Given the description of an element on the screen output the (x, y) to click on. 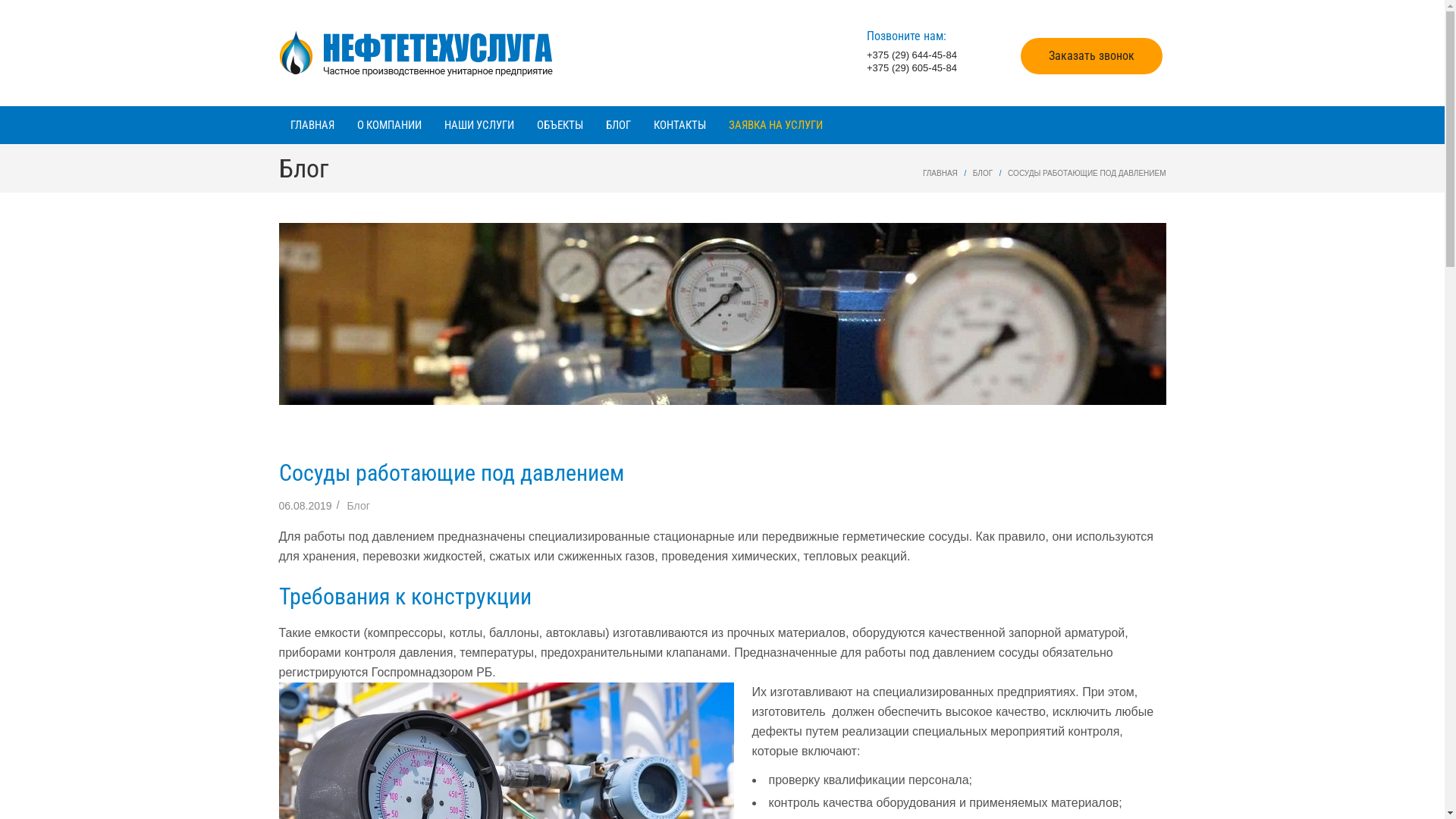
+375 (29) 644-45-84 Element type: text (911, 54)
+375 (29) 605-45-84 Element type: text (911, 67)
